Given the description of an element on the screen output the (x, y) to click on. 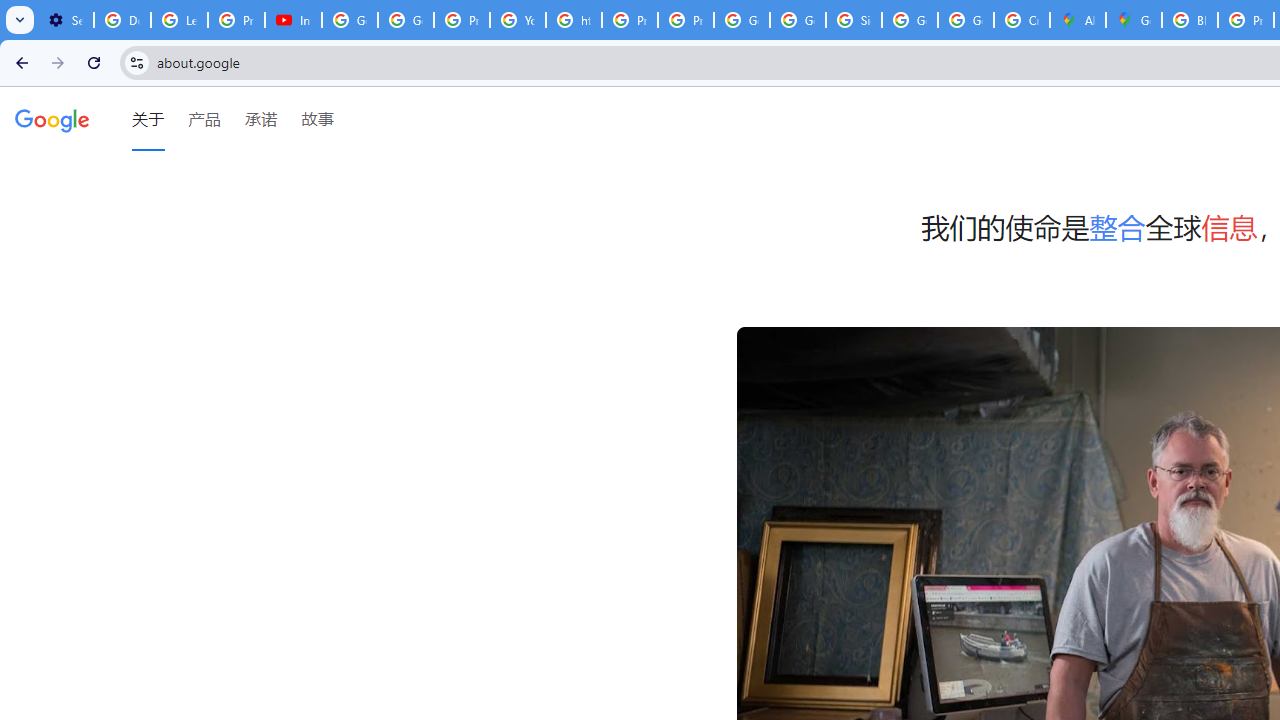
YouTube (518, 20)
https://scholar.google.com/ (573, 20)
Create your Google Account (1021, 20)
Google (52, 119)
Sign in - Google Accounts (853, 20)
Introduction | Google Privacy Policy - YouTube (293, 20)
